Given the description of an element on the screen output the (x, y) to click on. 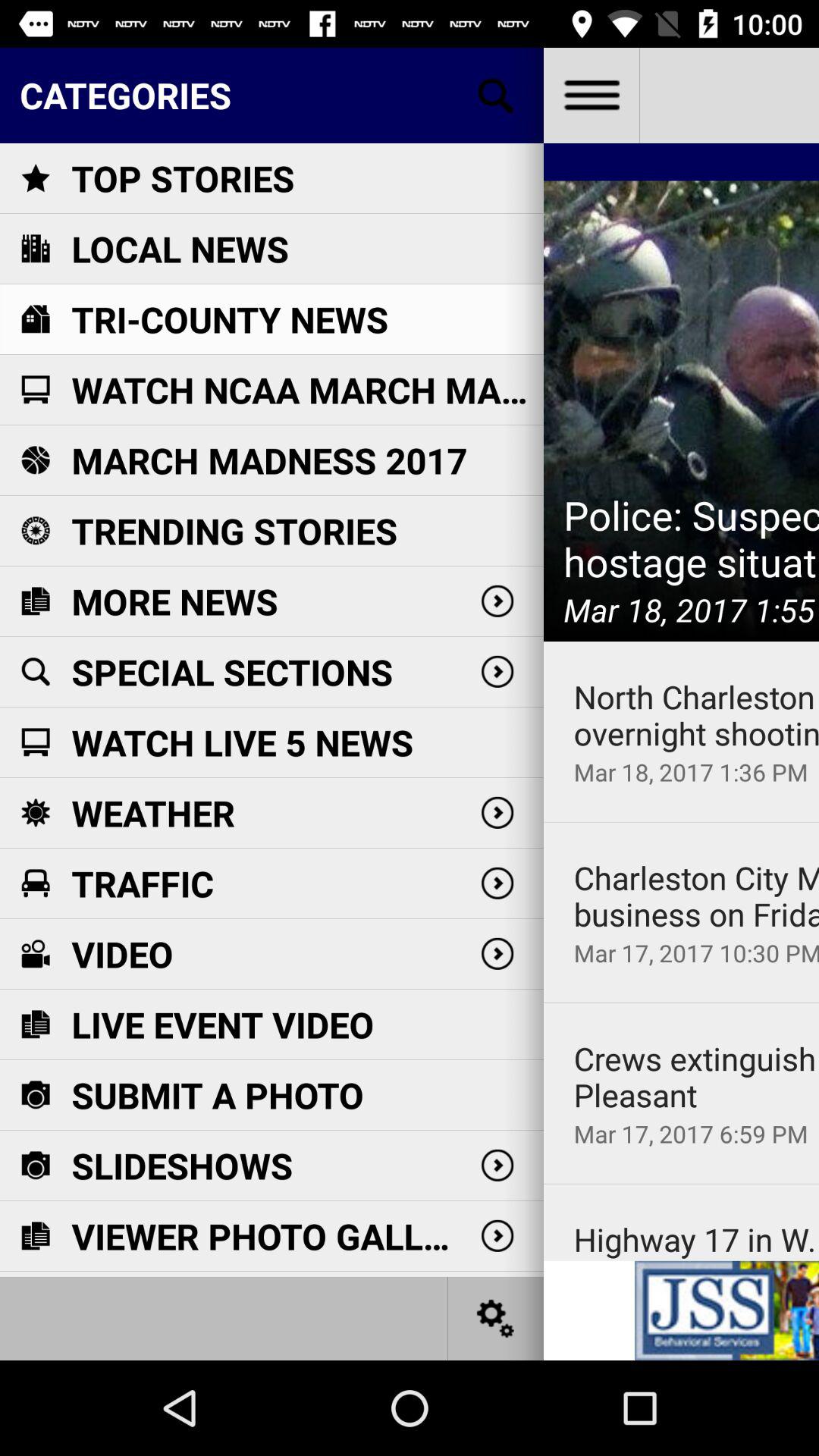
turn on top stories (182, 178)
